Given the description of an element on the screen output the (x, y) to click on. 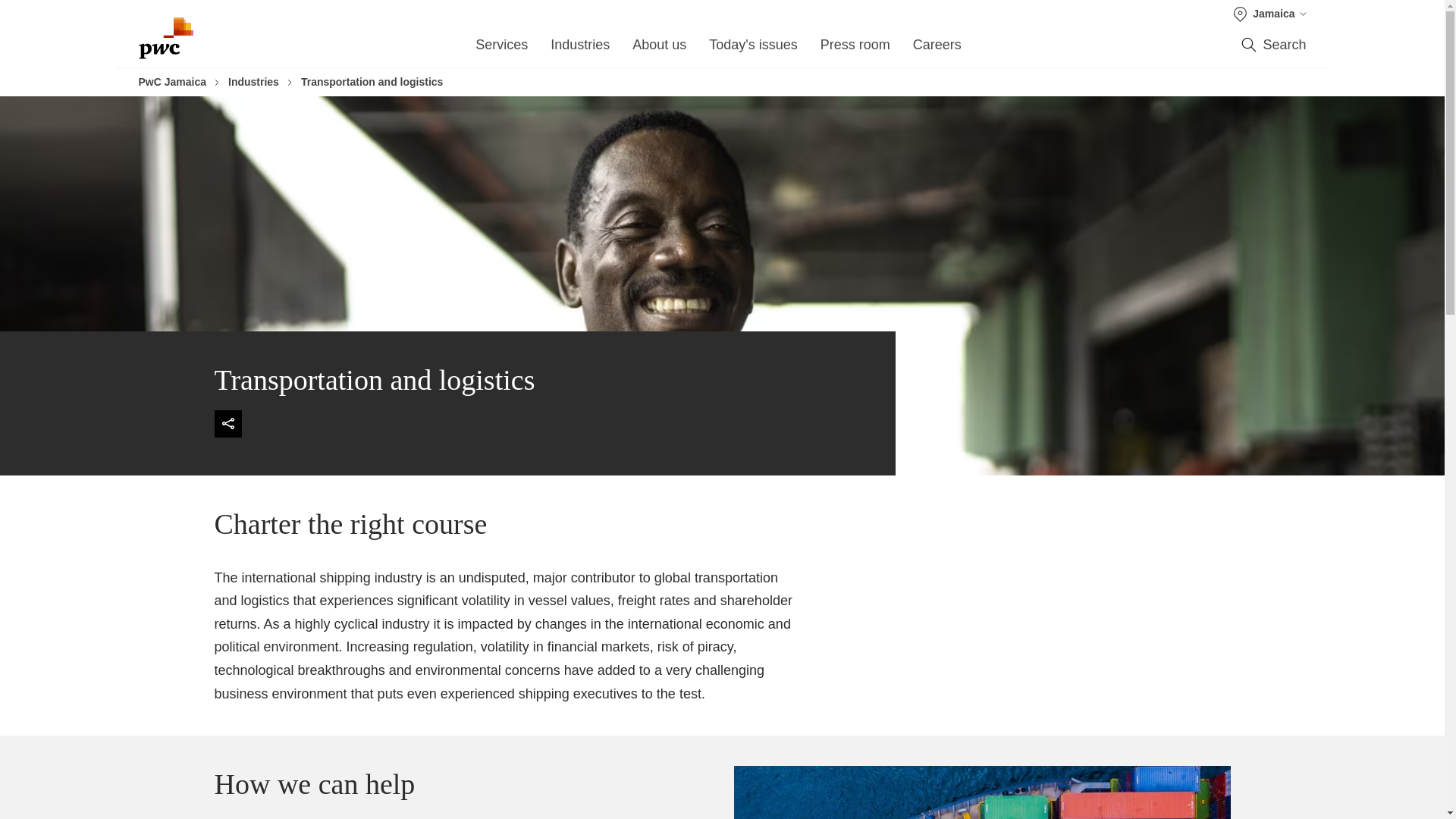
About us (658, 49)
Services (501, 49)
Today's issues (753, 49)
Industries (580, 49)
Careers (936, 49)
Jamaica (1269, 13)
Press room (855, 49)
how we can help (981, 792)
